Given the description of an element on the screen output the (x, y) to click on. 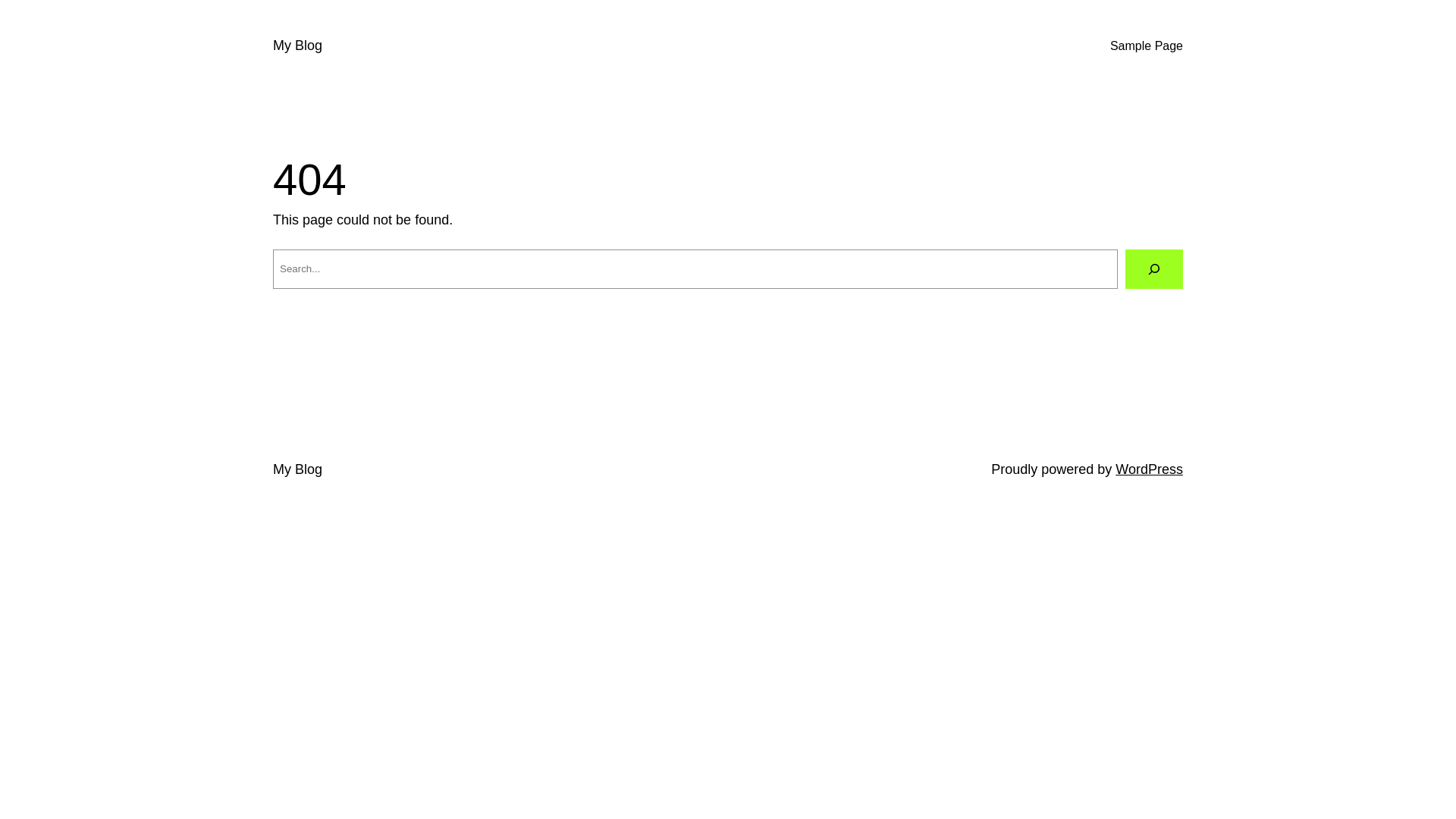
Sample Page Element type: text (1146, 46)
My Blog Element type: text (297, 45)
My Blog Element type: text (297, 468)
WordPress Element type: text (1149, 468)
